Given the description of an element on the screen output the (x, y) to click on. 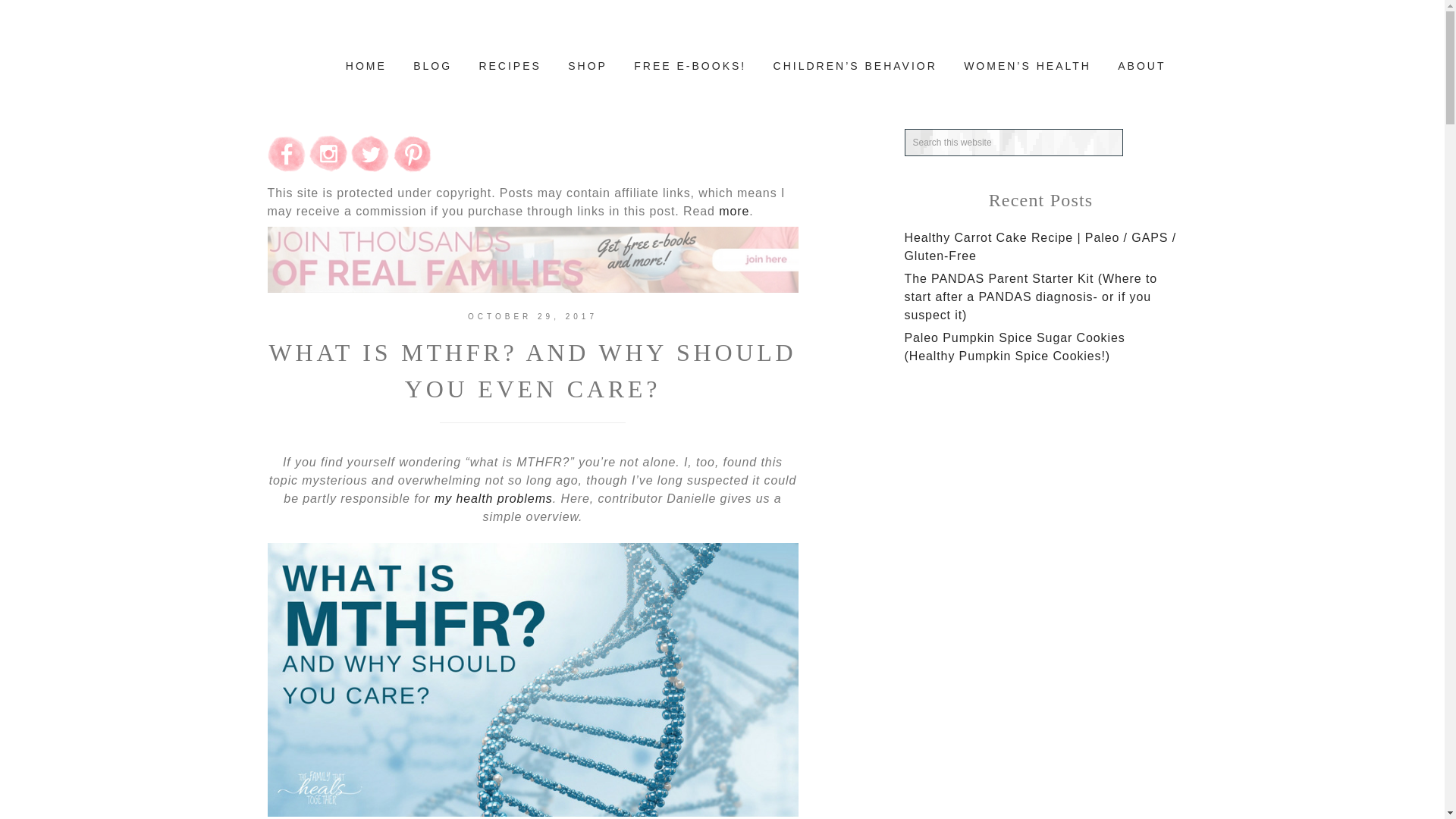
Follow me on Instagram (327, 168)
my health problems (493, 498)
Follow me on Pinterest (411, 168)
SHOP (587, 66)
ABOUT (1141, 66)
Follow me on Twitter (369, 168)
BLOG (432, 66)
FREE E-BOOKS! (690, 66)
more (734, 210)
Follow me on Facebook (285, 168)
RECIPES (509, 66)
HOME (365, 66)
